Given the description of an element on the screen output the (x, y) to click on. 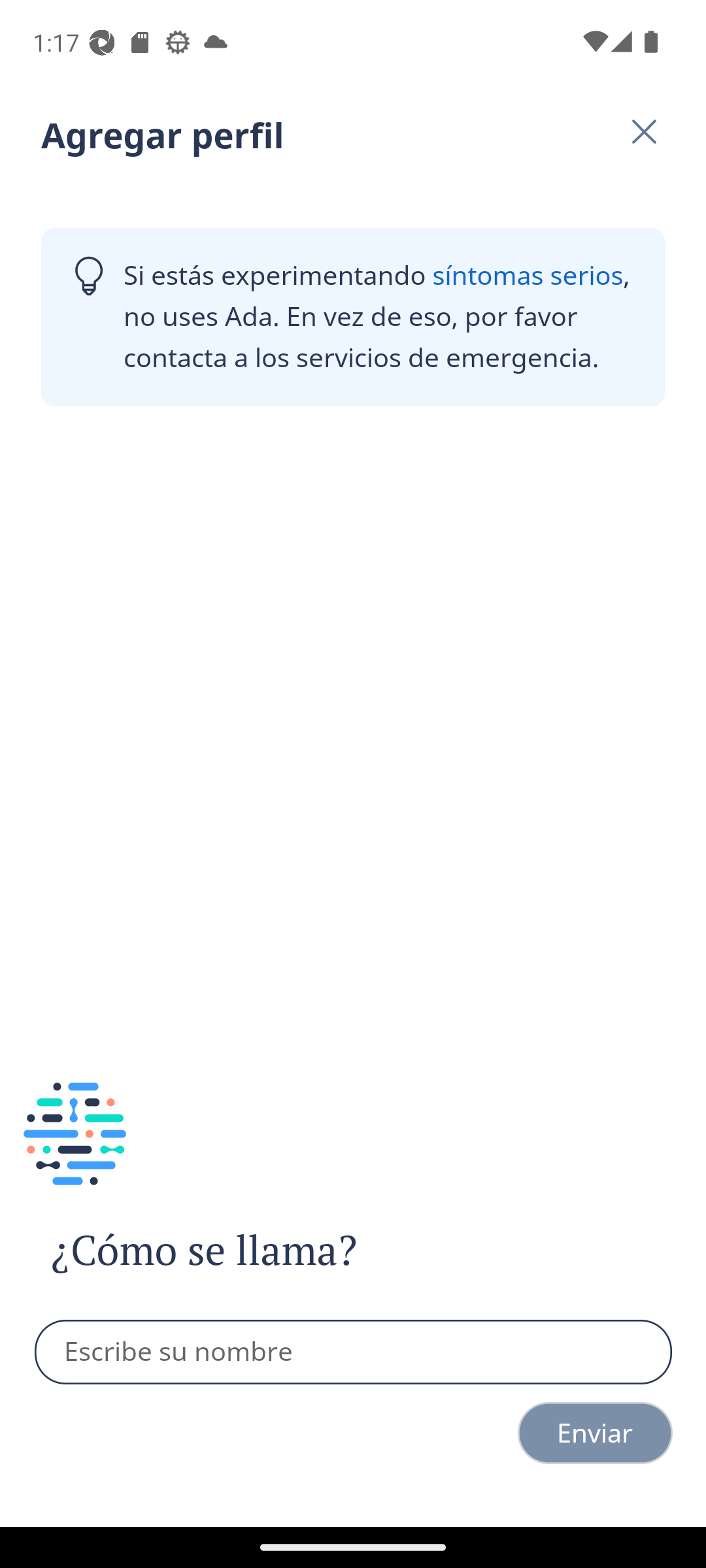
¿Cómo se llama? (240, 1250)
Escribe su nombre (353, 1352)
Enviar (594, 1432)
